Given the description of an element on the screen output the (x, y) to click on. 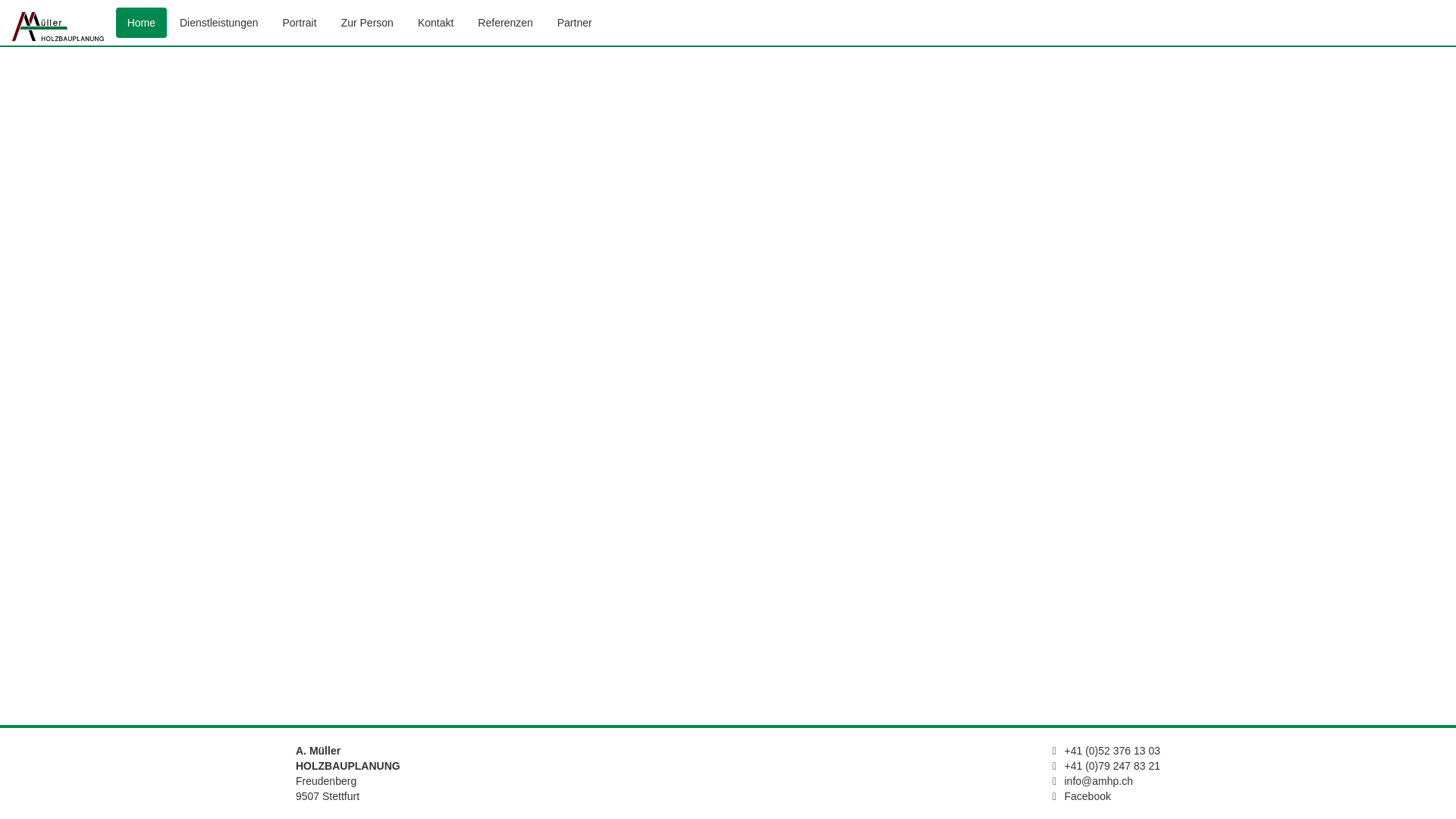
Facebook Element type: text (1087, 796)
Zur Person Element type: text (366, 22)
Referenzen Element type: text (504, 22)
Partner Element type: text (574, 22)
Kontakt Element type: text (435, 22)
Dienstleistungen Element type: text (218, 22)
Home Element type: text (141, 22)
info@amhp.ch Element type: text (1098, 781)
Portrait Element type: text (299, 22)
